Given the description of an element on the screen output the (x, y) to click on. 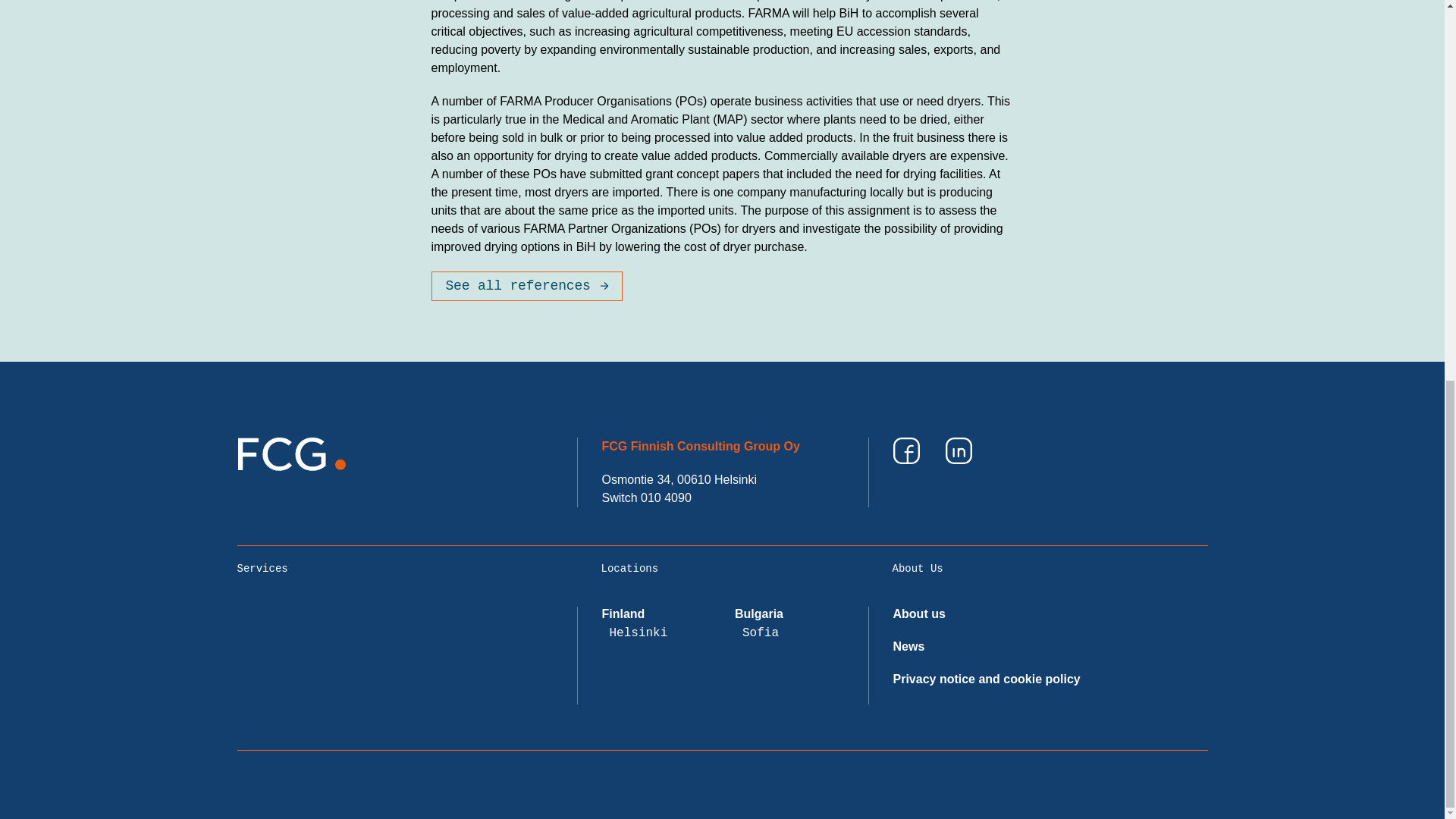
News (908, 645)
Helsinki (639, 632)
See all references (526, 286)
About us (918, 613)
Privacy notice and cookie policy (986, 678)
Sofia (760, 632)
Finland (623, 613)
Bulgaria (759, 613)
